Given the description of an element on the screen output the (x, y) to click on. 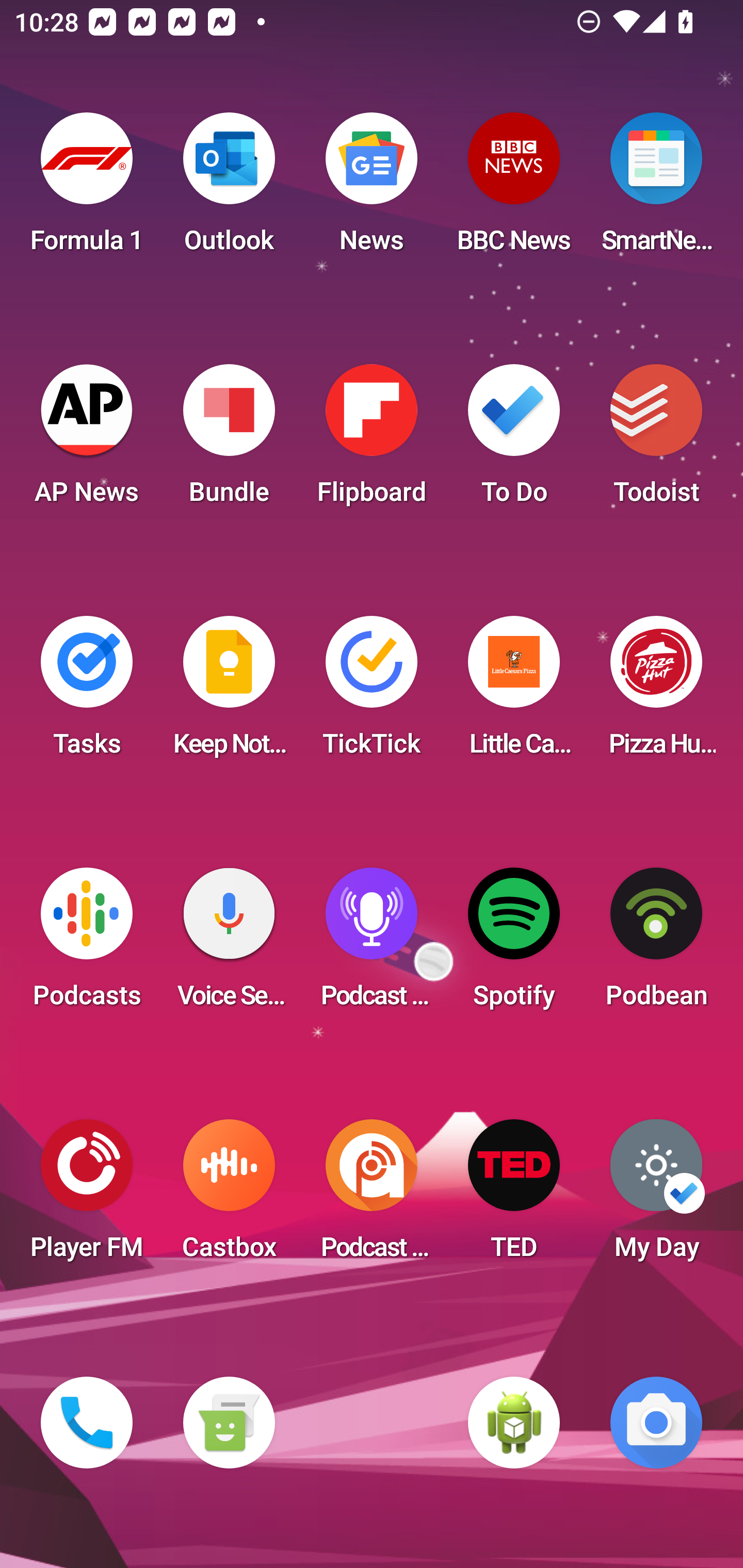
Formula 1 (86, 188)
Outlook (228, 188)
News (371, 188)
BBC News (513, 188)
SmartNews (656, 188)
AP News (86, 440)
Bundle (228, 440)
Flipboard (371, 440)
To Do (513, 440)
Todoist (656, 440)
Tasks (86, 692)
Keep Notes (228, 692)
TickTick (371, 692)
Little Caesars Pizza (513, 692)
Pizza Hut HK & Macau (656, 692)
Podcasts (86, 943)
Voice Search (228, 943)
Podcast Player (371, 943)
Spotify (513, 943)
Podbean (656, 943)
Player FM (86, 1195)
Castbox (228, 1195)
Podcast Addict (371, 1195)
TED (513, 1195)
My Day (656, 1195)
Phone (86, 1422)
Messaging (228, 1422)
WebView Browser Tester (513, 1422)
Camera (656, 1422)
